Given the description of an element on the screen output the (x, y) to click on. 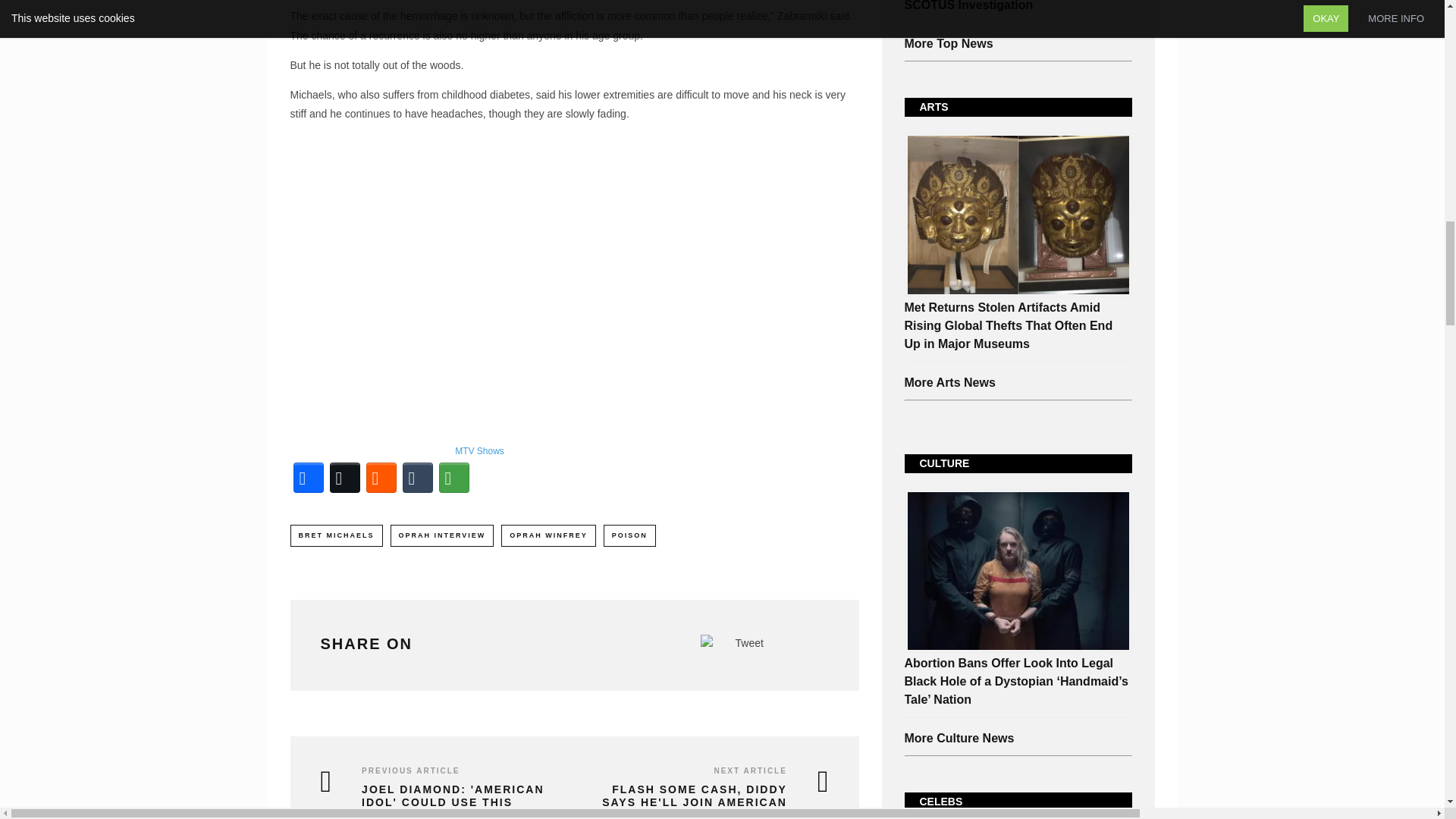
Reddit (380, 477)
Facebook (307, 477)
Tumblr (416, 477)
